Given the description of an element on the screen output the (x, y) to click on. 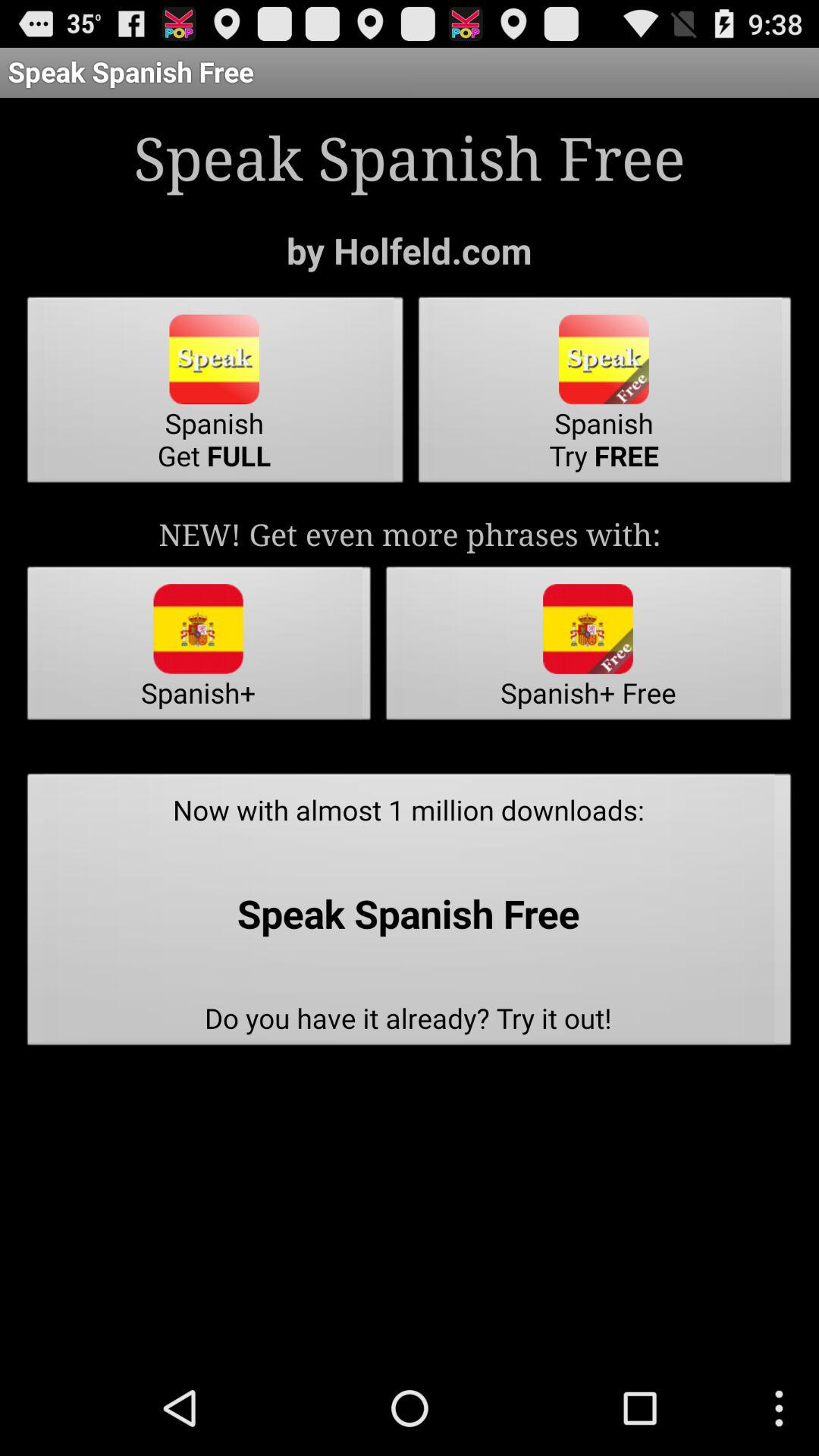
press now with almost icon (409, 913)
